Given the description of an element on the screen output the (x, y) to click on. 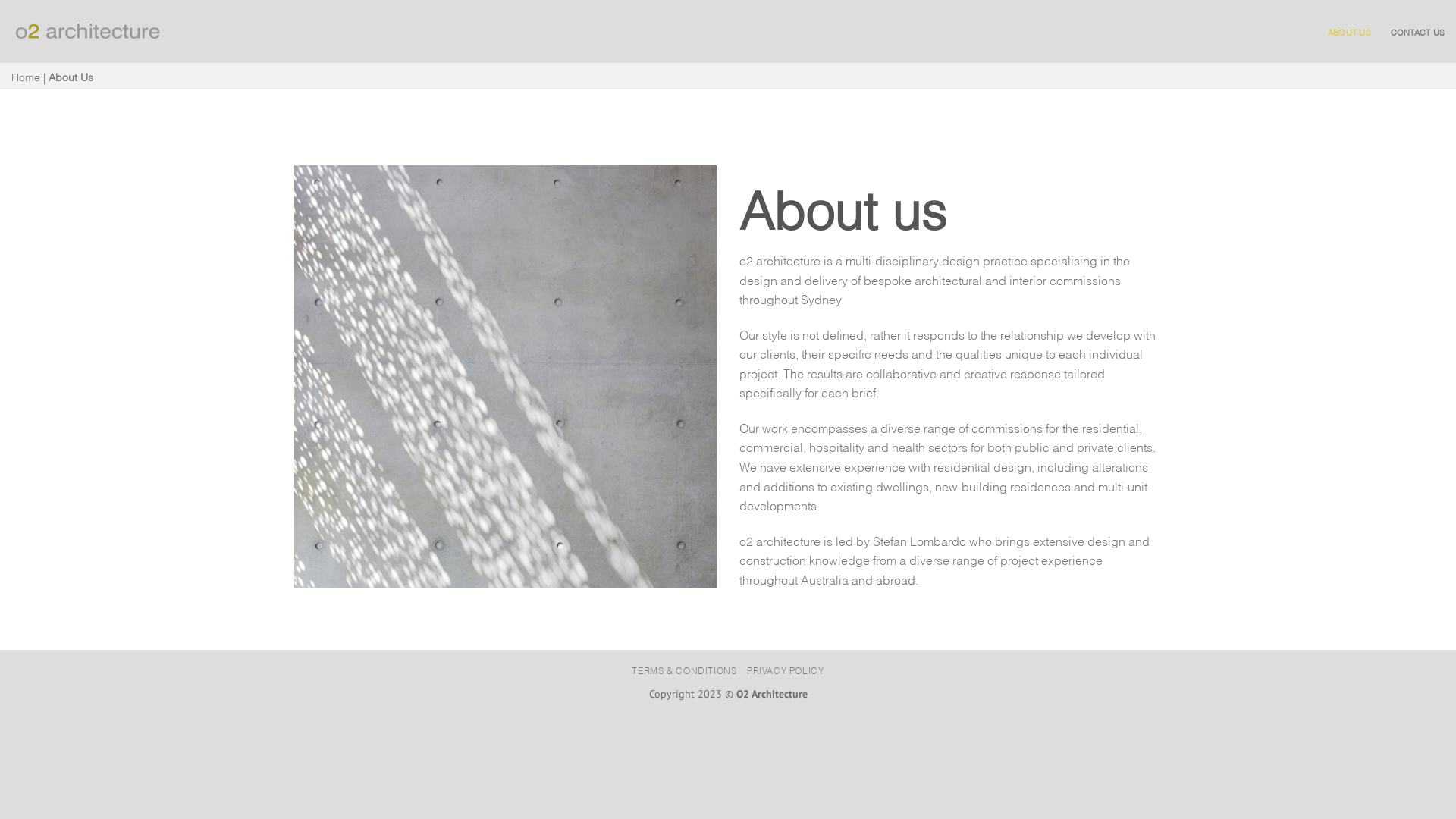
O2 Architecture Element type: hover (87, 30)
ABOUT US Element type: text (1349, 31)
TERMS & CONDITIONS Element type: text (683, 669)
Home Element type: text (25, 75)
CONTACT US Element type: text (1417, 31)
PRIVACY POLICY Element type: text (785, 669)
